Given the description of an element on the screen output the (x, y) to click on. 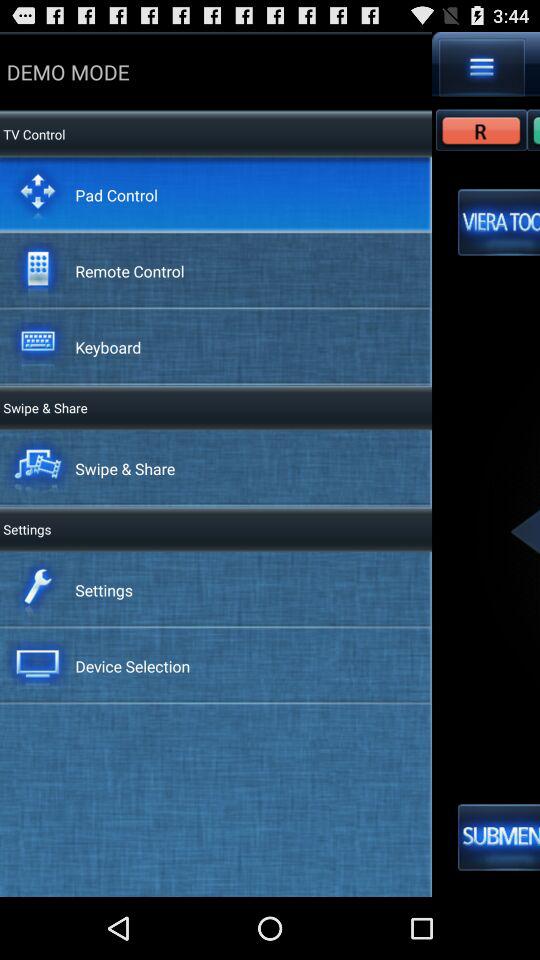
more options (481, 67)
